Given the description of an element on the screen output the (x, y) to click on. 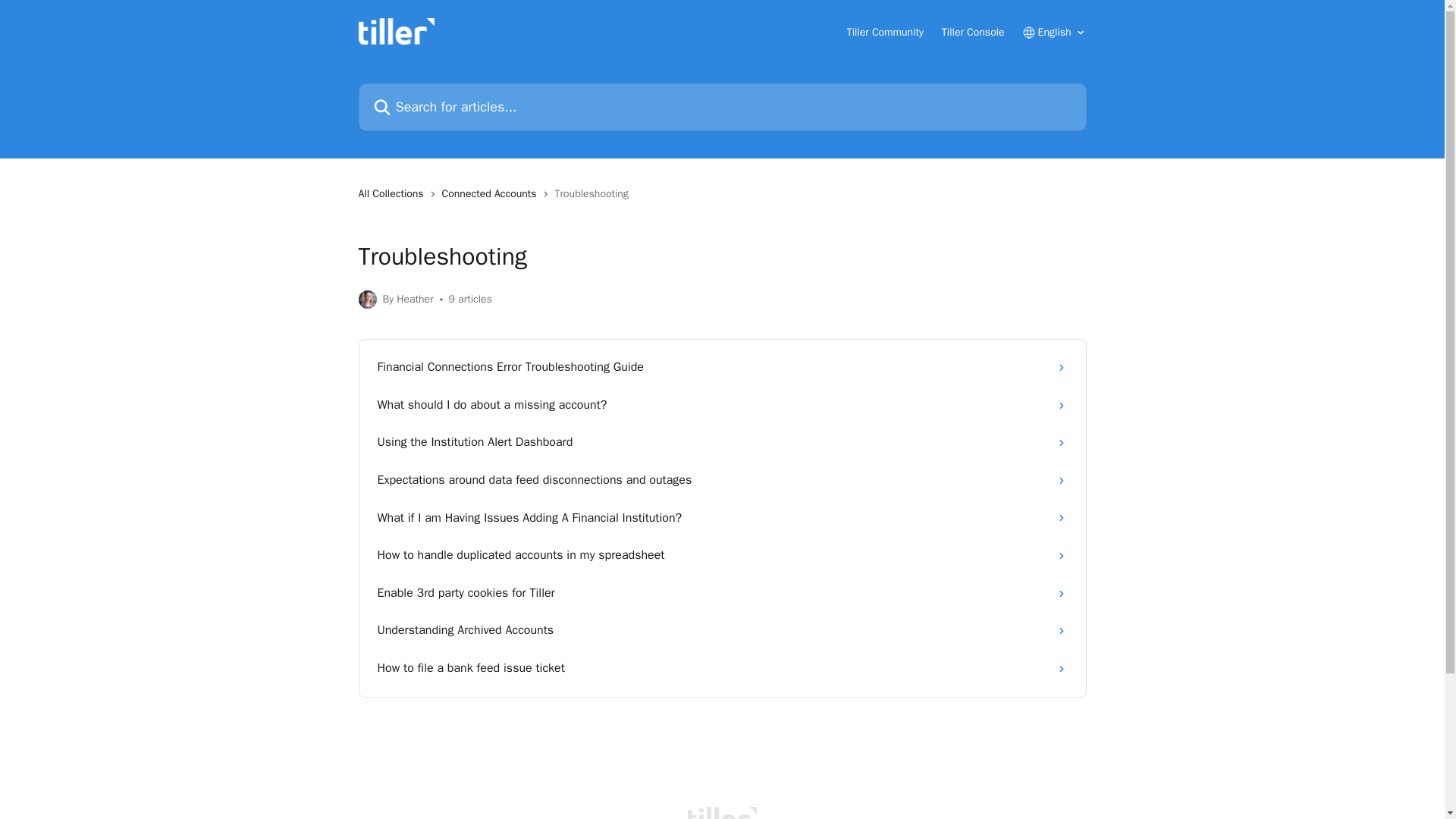
Connected Accounts (492, 193)
Tiller Community (885, 32)
What should I do about a missing account? (722, 405)
Using the Institution Alert Dashboard (722, 442)
Expectations around data feed disconnections and outages (722, 480)
Understanding Archived Accounts (722, 630)
What if I am Having Issues Adding A Financial Institution? (722, 518)
Tiller Console (973, 32)
Enable 3rd party cookies for Tiller (722, 593)
All Collections (393, 193)
